Given the description of an element on the screen output the (x, y) to click on. 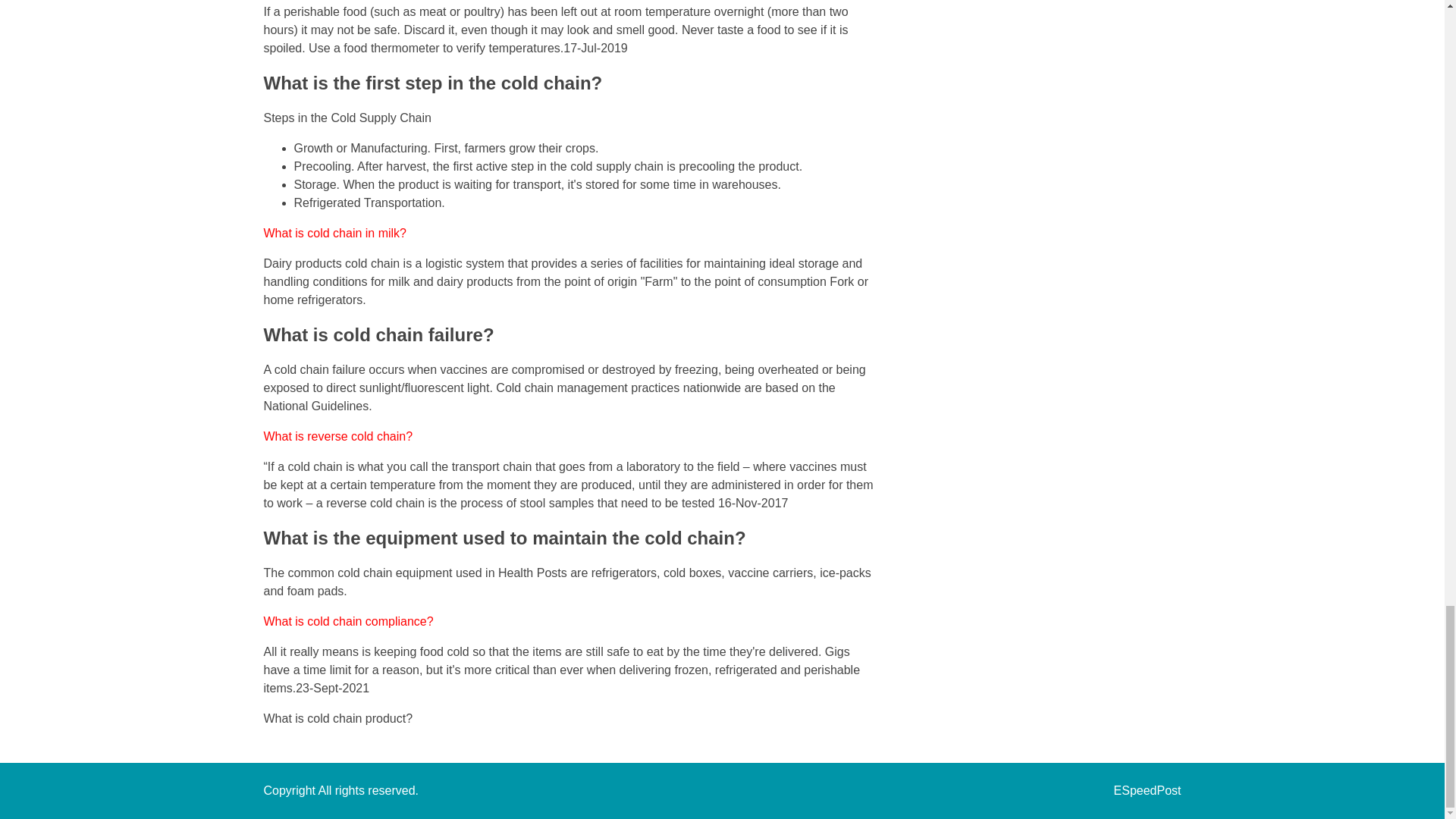
ESpeedPost (1146, 790)
